Given the description of an element on the screen output the (x, y) to click on. 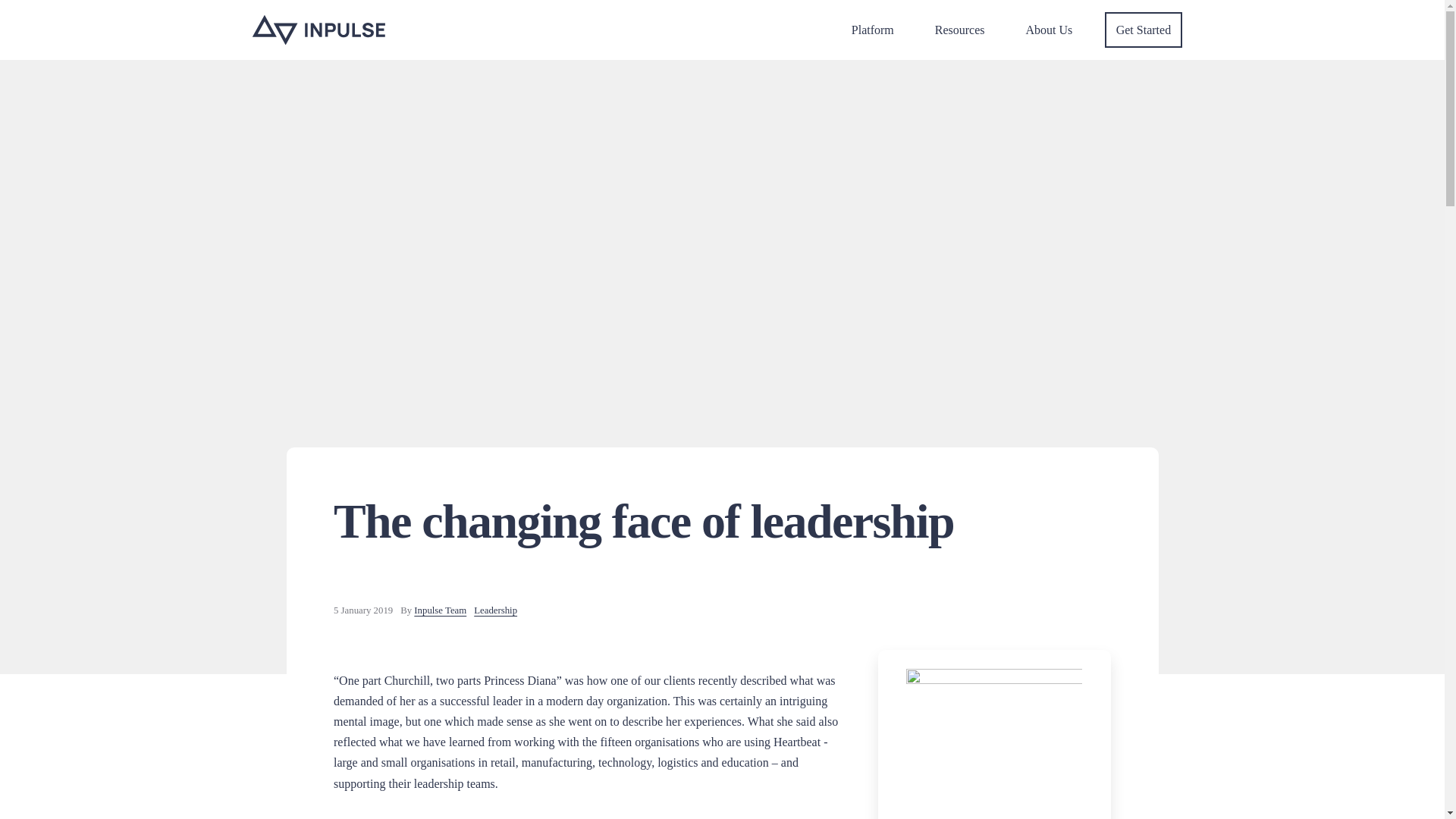
Leadership (495, 610)
Inpulse Team (439, 610)
Resources (959, 29)
Platform (872, 29)
About Us (1049, 29)
Get Started (1143, 29)
